Given the description of an element on the screen output the (x, y) to click on. 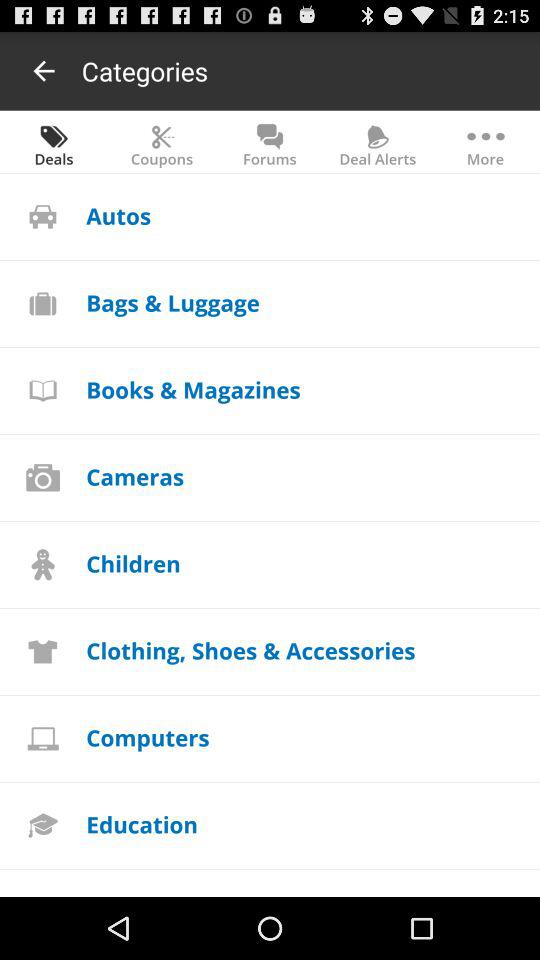
go back (44, 70)
